Given the description of an element on the screen output the (x, y) to click on. 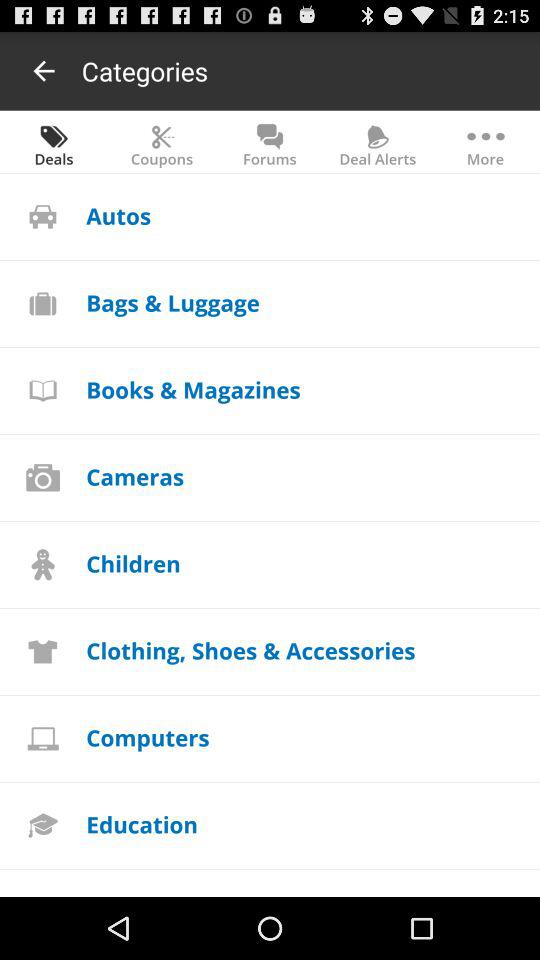
go back (44, 70)
